Given the description of an element on the screen output the (x, y) to click on. 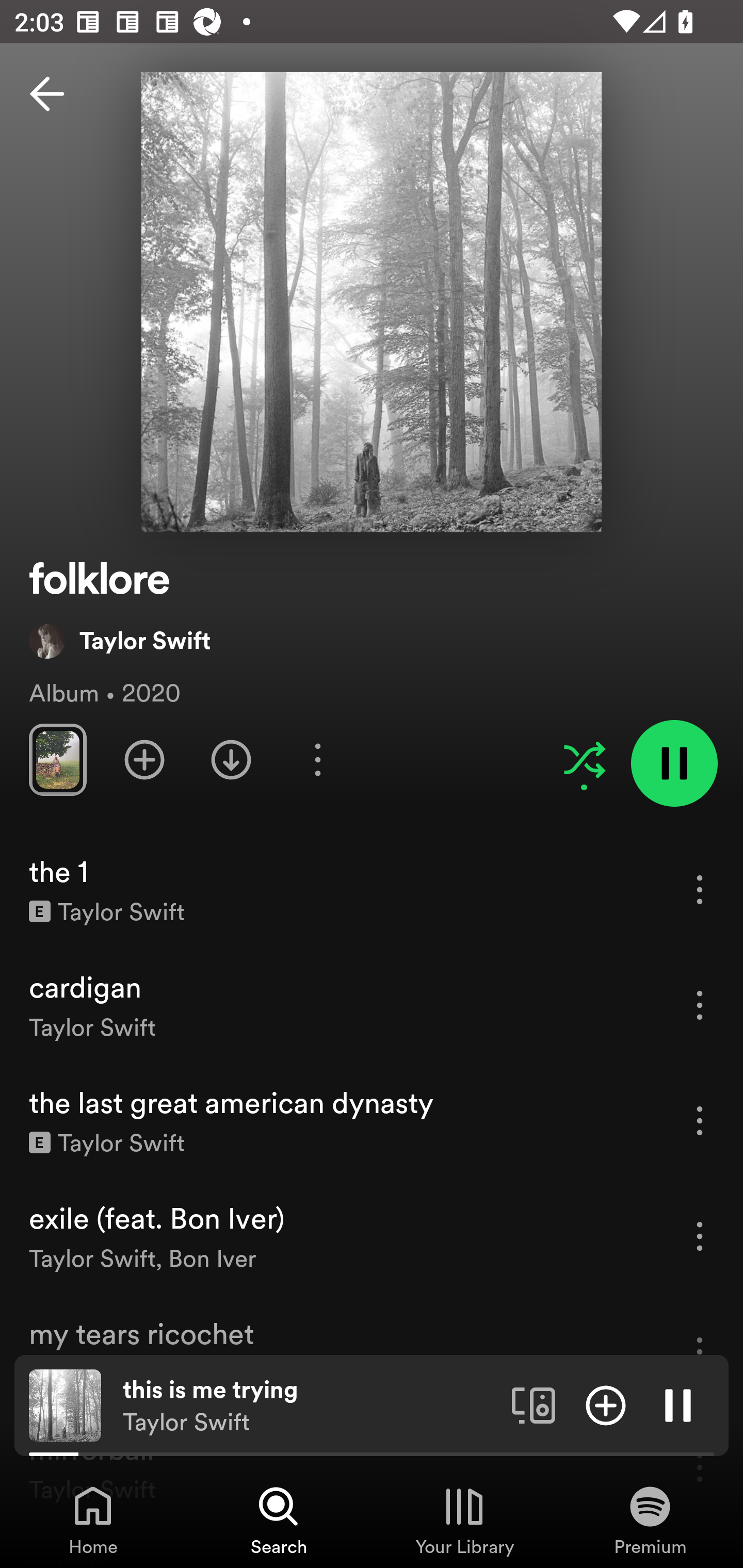
Back (46, 93)
Taylor Swift (119, 640)
Swipe through previews of tracks from this album. (57, 759)
Add playlist to Your Library (144, 759)
Download (230, 759)
More options for playlist folklore (317, 759)
Disable shuffle for this playlist (583, 759)
Pause playlist (674, 763)
More options for song the 1 (699, 889)
More options for song cardigan (699, 1004)
More options for song exile (feat. Bon Iver) (699, 1236)
this is me trying Taylor Swift (309, 1405)
The cover art of the currently playing track (64, 1404)
Connect to a device. Opens the devices menu (533, 1404)
Add item (605, 1404)
Pause (677, 1404)
Home, Tab 1 of 4 Home Home (92, 1519)
Search, Tab 2 of 4 Search Search (278, 1519)
Your Library, Tab 3 of 4 Your Library Your Library (464, 1519)
Premium, Tab 4 of 4 Premium Premium (650, 1519)
